Given the description of an element on the screen output the (x, y) to click on. 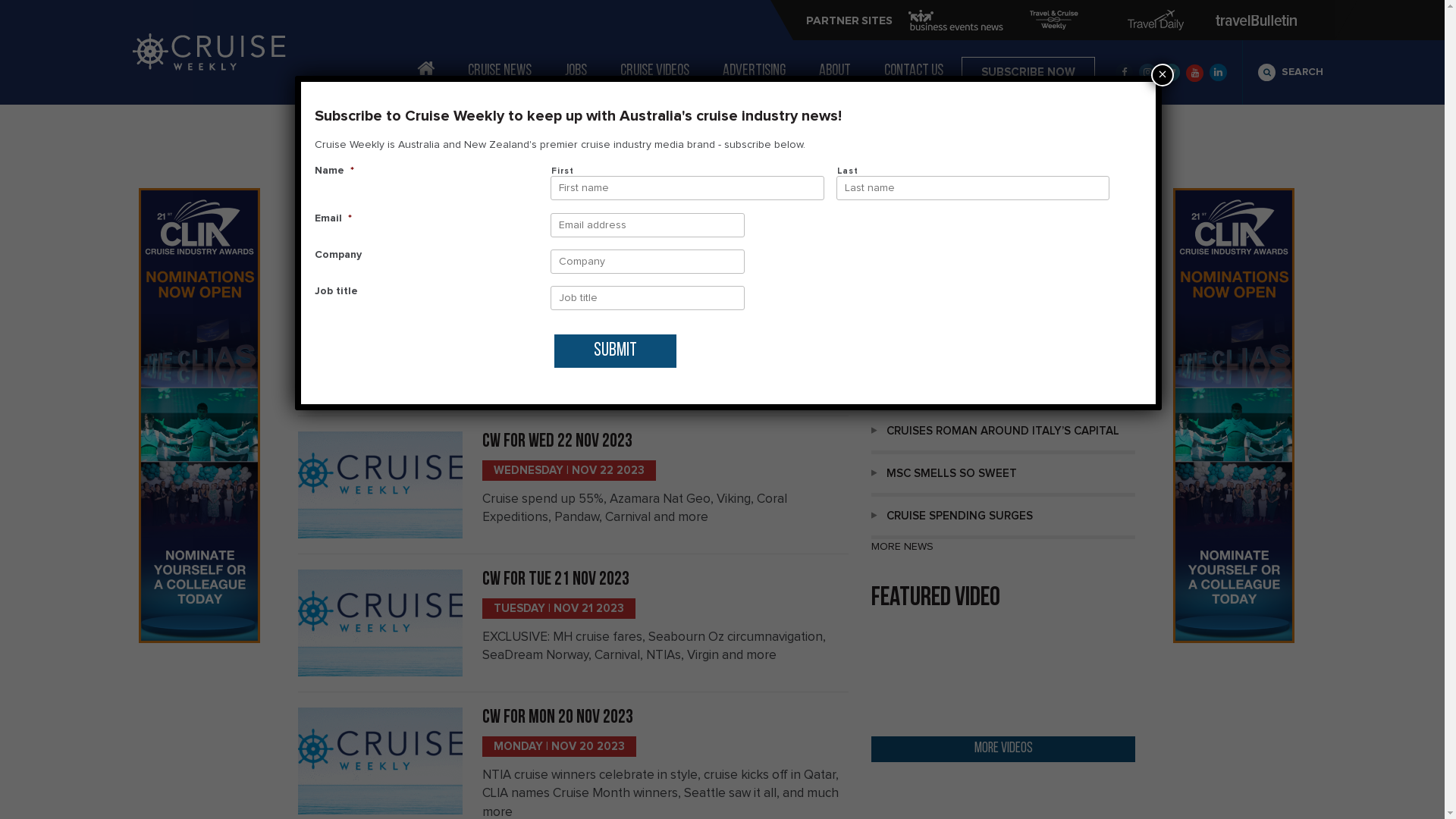
ADVERTISING Element type: text (753, 70)
PONANT ZERO-EMISSION SHIP PROGRESS Element type: text (1003, 347)
JOBS Element type: text (575, 70)
CRUISE SPENDING SURGES Element type: text (1003, 517)
Latest news Element type: text (925, 304)
CW for Mon 20 Nov 2023 Element type: text (557, 717)
CW for Wed 22 Nov 2023 Element type: text (557, 441)
MORE VIDEOS Element type: text (1003, 749)
CW for Thu 23 Nov 2023 Element type: text (556, 294)
CW for Tue 21 Nov 2023 Element type: text (555, 579)
2 Element type: text (753, 259)
CONTACT US Element type: text (913, 70)
CRUISE VIDEOS Element type: text (654, 70)
HOME Element type: text (425, 68)
ABOUT Element type: text (834, 70)
CRUISE NEWS Element type: text (499, 70)
YouTube video player Element type: hover (1003, 674)
3 Element type: text (771, 259)
SUBSCRIBE NOW Element type: text (1028, 71)
MORE NEWS Element type: text (902, 546)
Submit Element type: text (615, 350)
MSC SMELLS SO SWEET Element type: text (1003, 475)
159 Element type: text (814, 259)
